Given the description of an element on the screen output the (x, y) to click on. 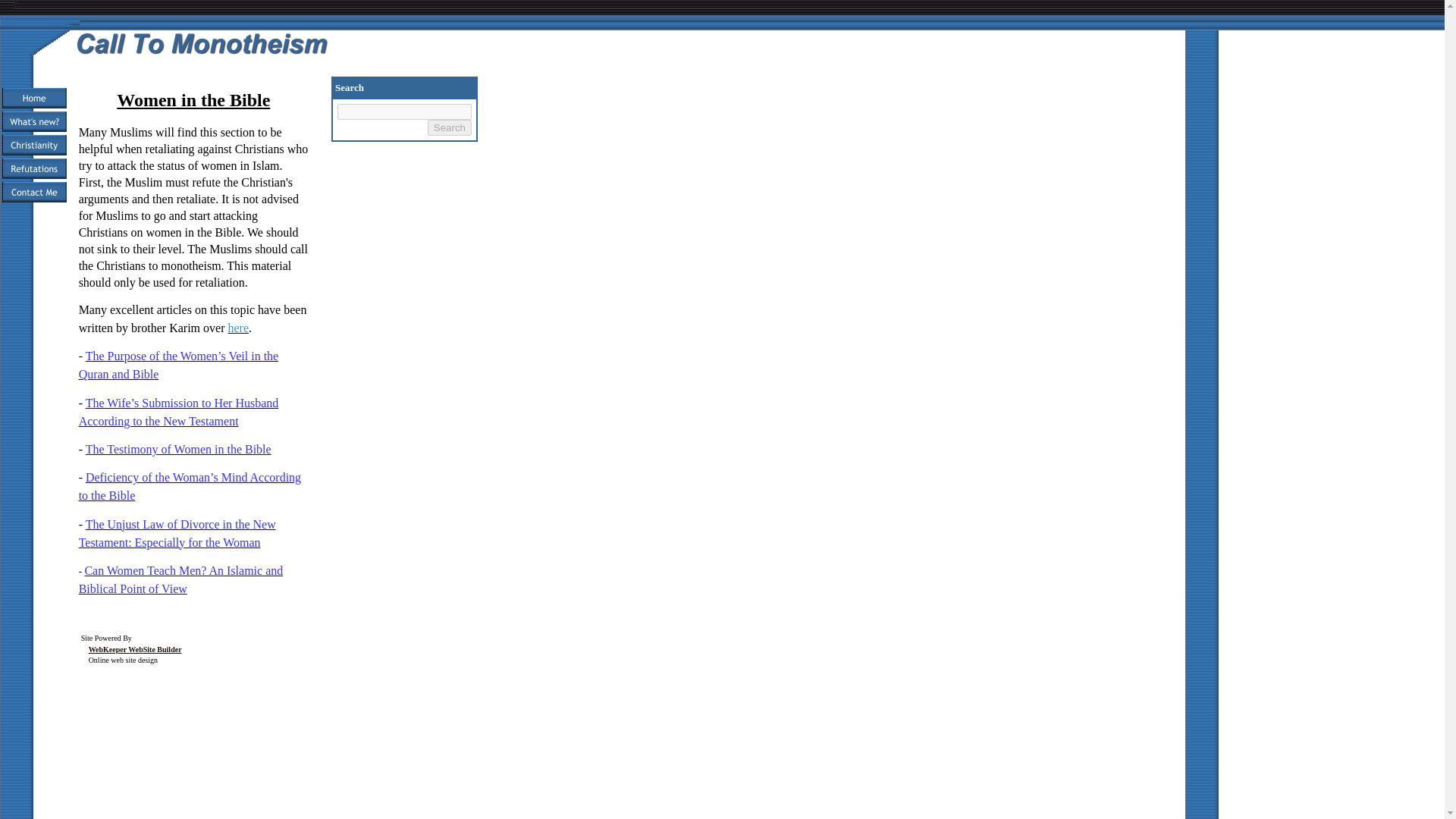
here (237, 327)
Can Women Teach Men? An Islamic and Biblical Point of View (180, 580)
WebKeeper WebSite Builder (135, 649)
The Testimony of Women in the Bible (177, 449)
Search (449, 127)
